Given the description of an element on the screen output the (x, y) to click on. 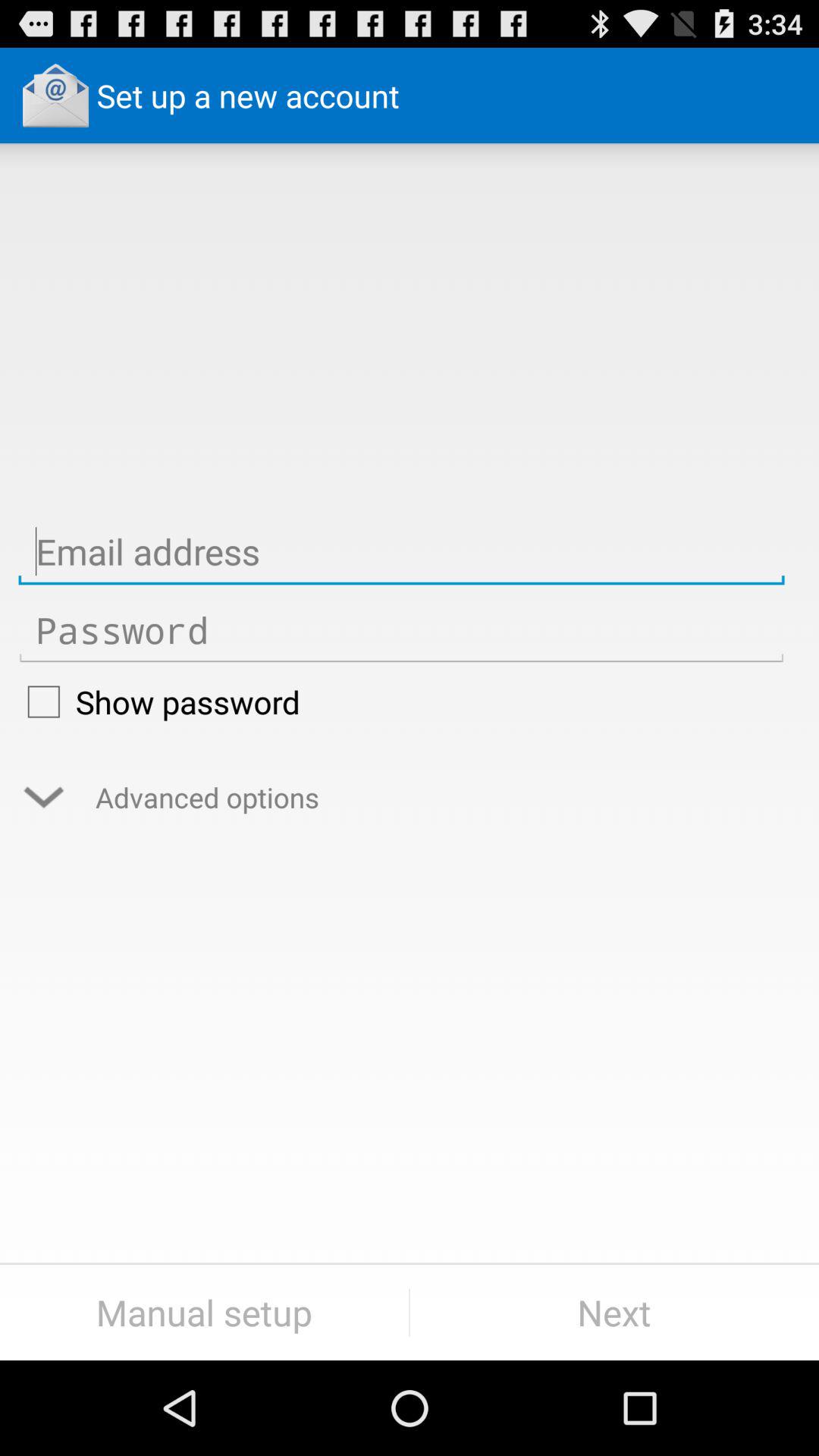
turn on button to the right of the manual setup button (614, 1312)
